Given the description of an element on the screen output the (x, y) to click on. 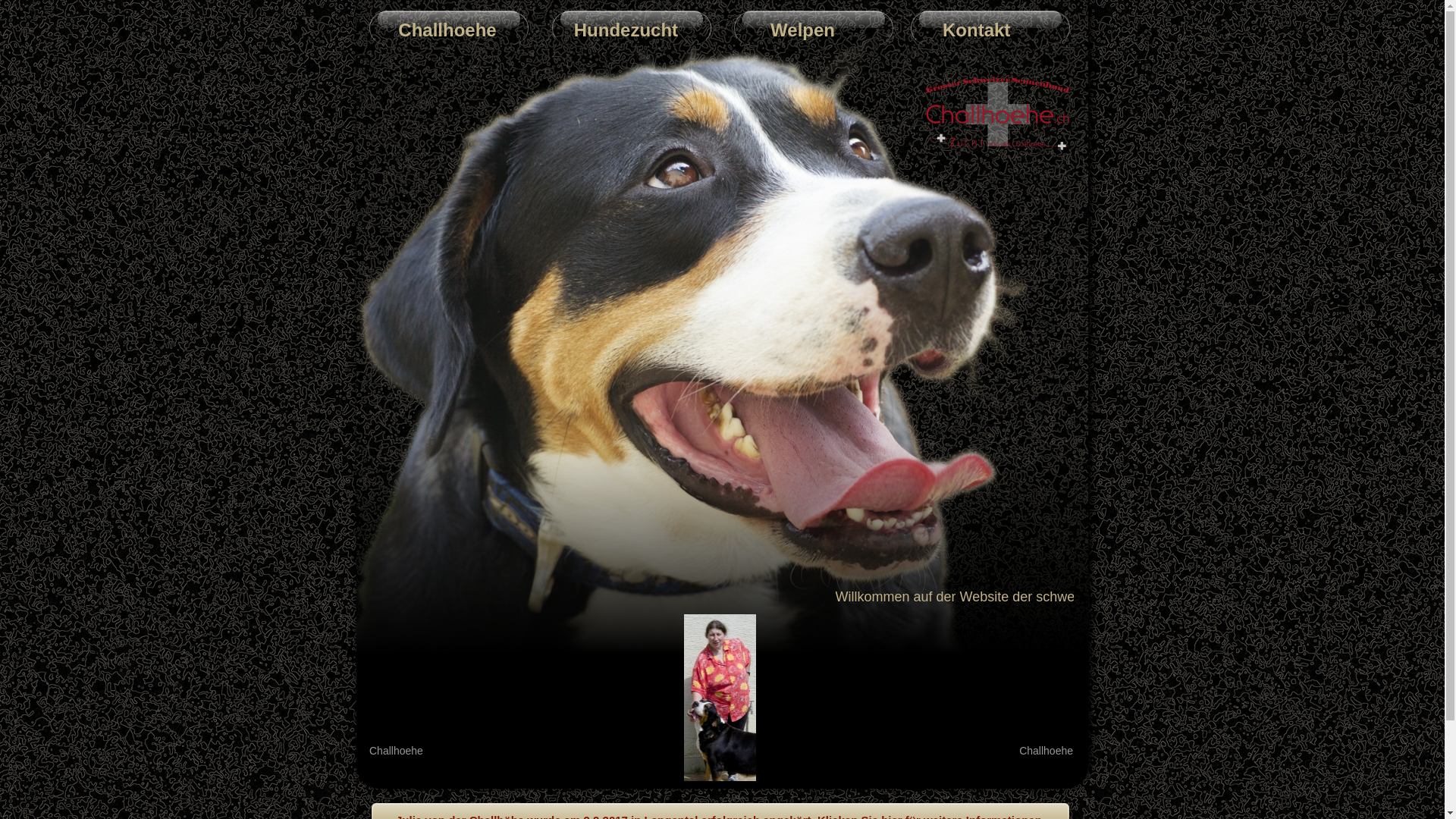
           Hundezucht         Element type: text (617, 29)
           Hundezucht         Element type: text (617, 29)
             Kontakt Element type: text (943, 29)
          Welpen         Element type: text (796, 29)
             Kontakt Element type: text (942, 29)
        Challhoehe     Element type: text (436, 29)
        Challhoehe     Element type: text (437, 29)
  Element type: text (357, 6)
          Welpen         Element type: text (797, 29)
